Given the description of an element on the screen output the (x, y) to click on. 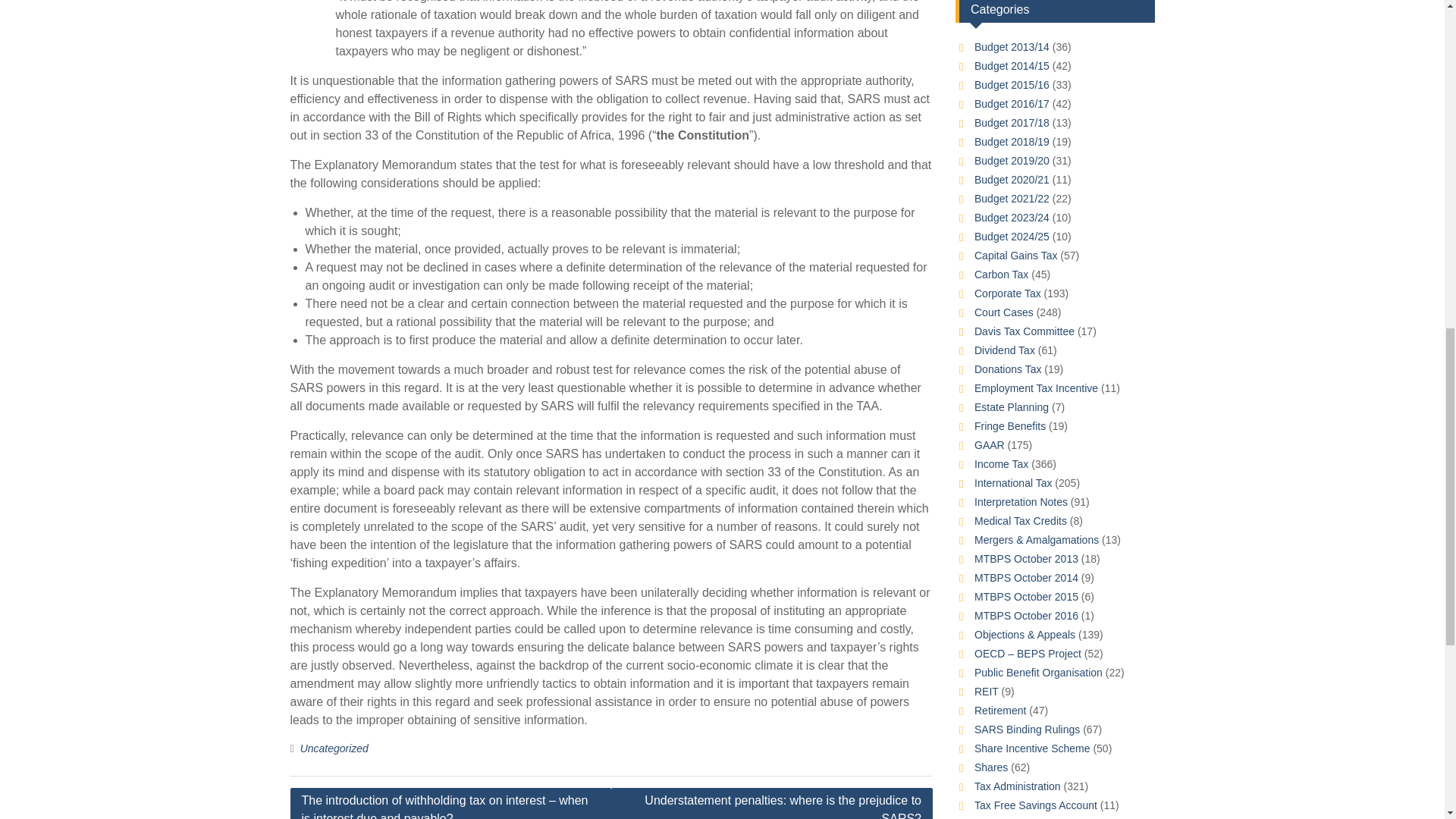
Uncategorized (333, 748)
Understatement penalties: where is the prejudice to SARS? (772, 803)
